Given the description of an element on the screen output the (x, y) to click on. 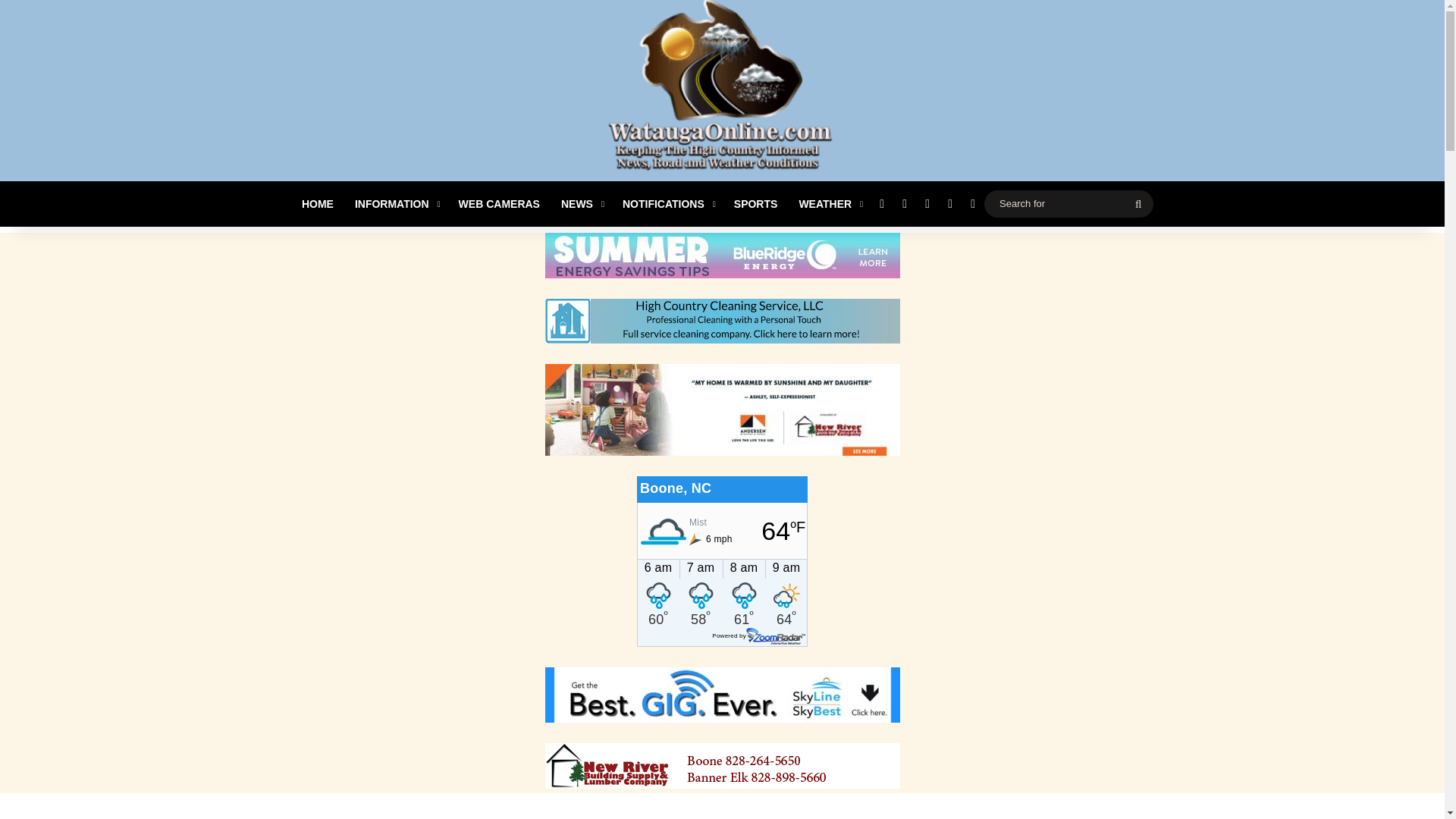
SPORTS (756, 203)
New River Building Supply (721, 765)
WEATHER (828, 203)
NOTIFICATIONS (667, 203)
HOME (317, 203)
WEB CAMERAS (499, 203)
Blue Ridge Energy (721, 255)
Search for (1068, 203)
NEWS (580, 203)
WataugaOnline.com (721, 92)
INFORMATION (395, 203)
